Given the description of an element on the screen output the (x, y) to click on. 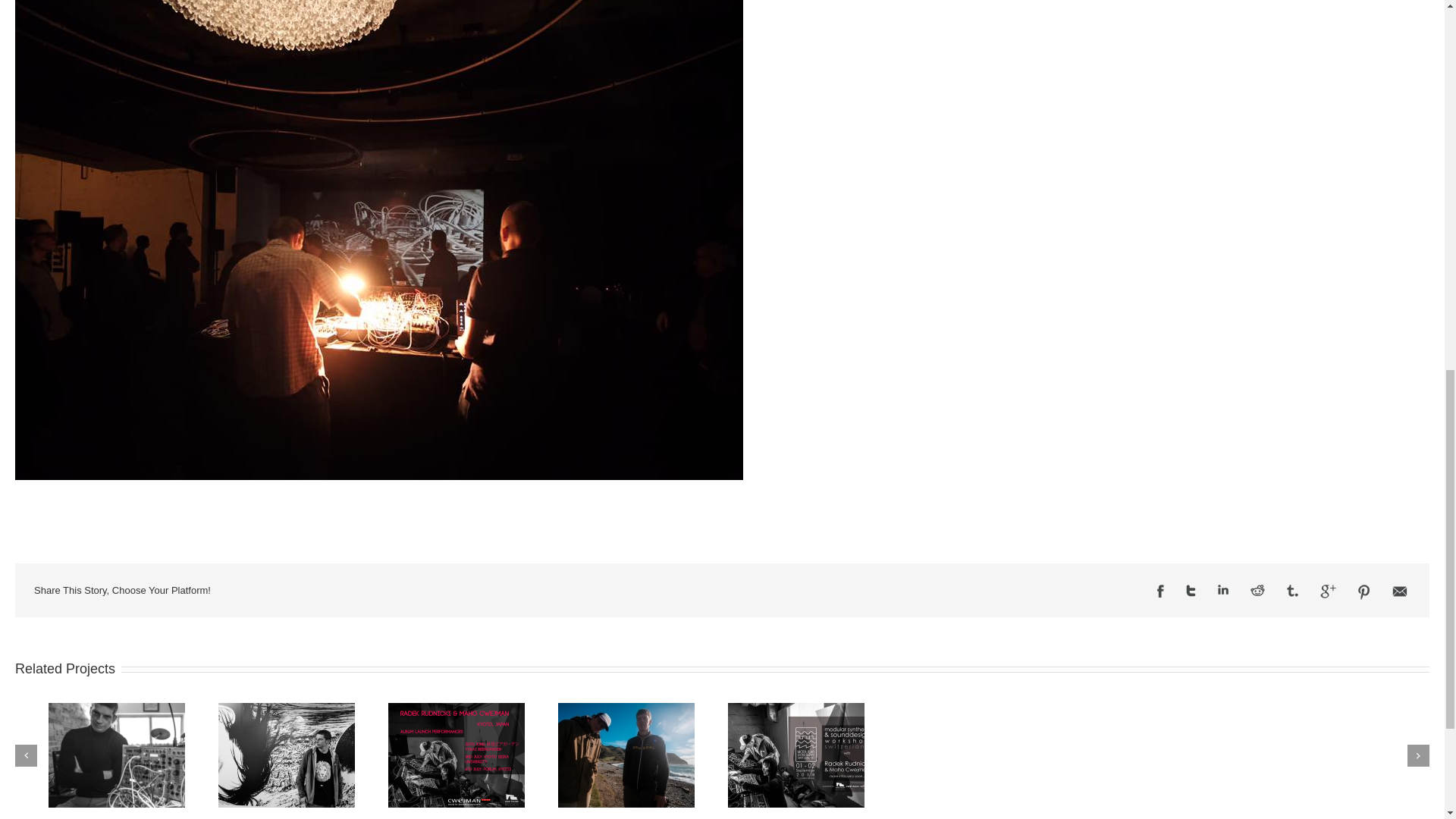
LinkedIn (1222, 589)
Reddit (1257, 590)
Tumblr (1292, 590)
